Given the description of an element on the screen output the (x, y) to click on. 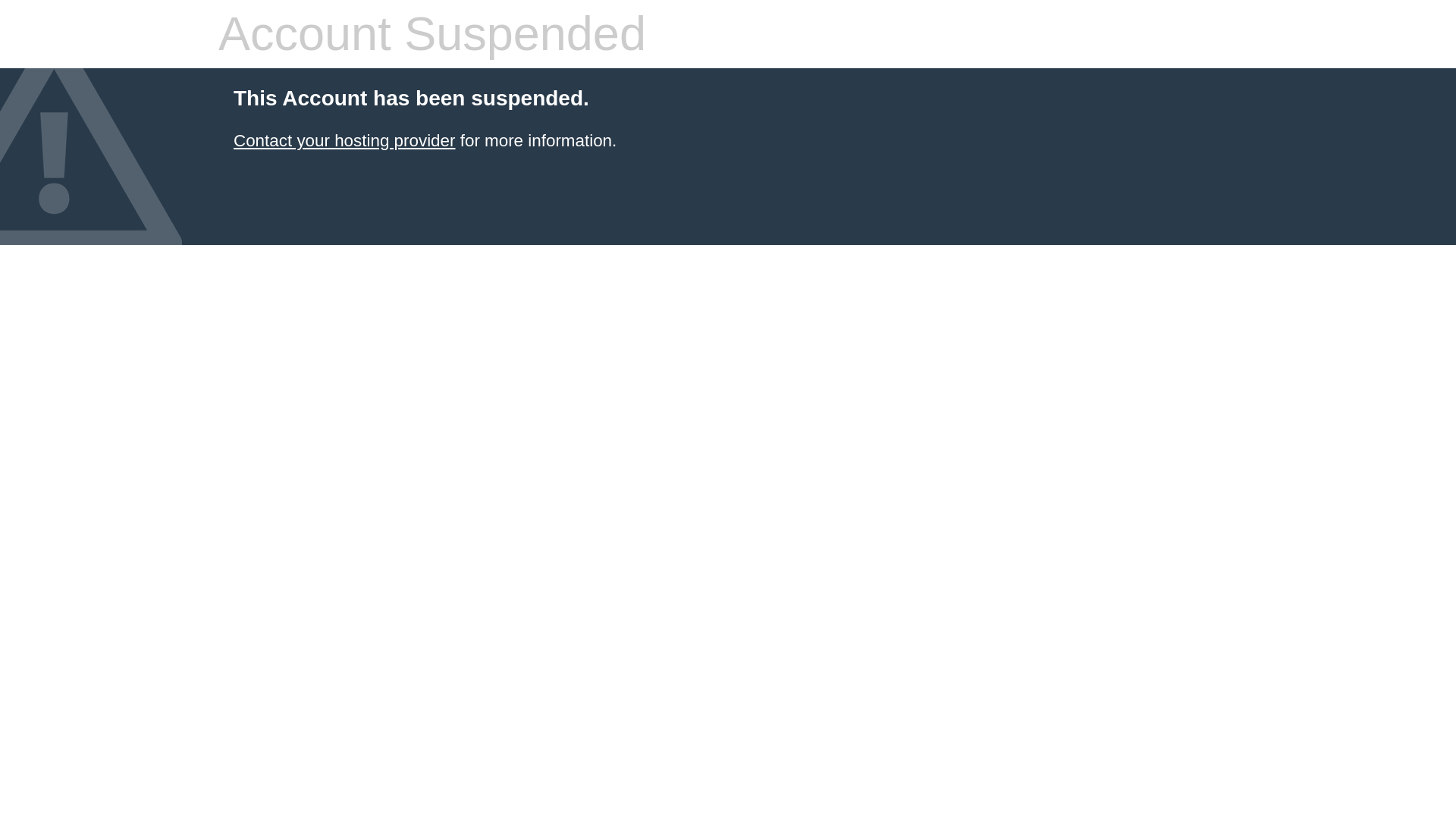
Contact your hosting provider (343, 140)
